Given the description of an element on the screen output the (x, y) to click on. 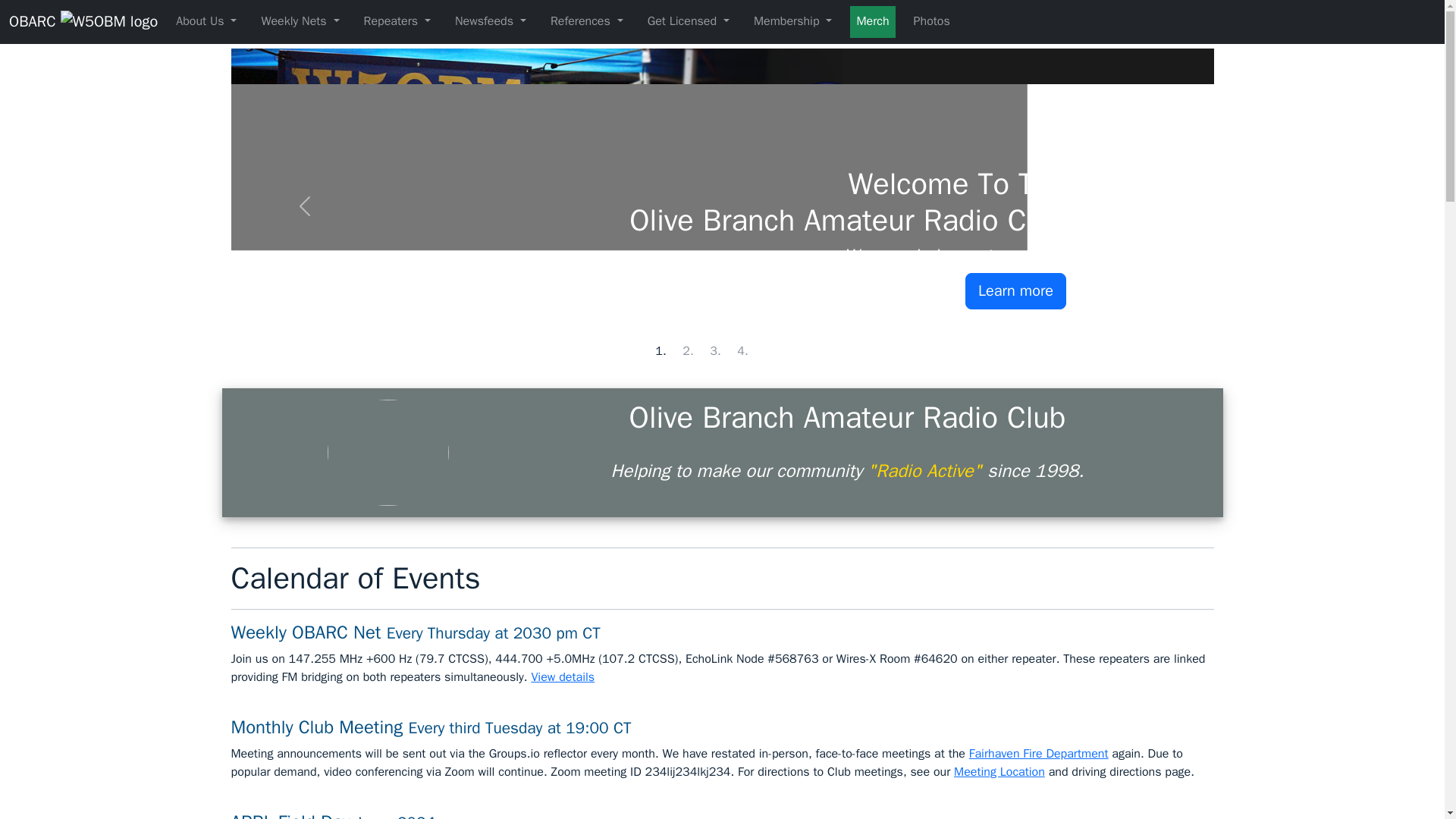
Newsfeeds (490, 21)
OBARC (82, 21)
About Us (206, 21)
Get Licensed (688, 21)
Weekly Nets (299, 21)
References (586, 21)
Repeaters (397, 21)
